Given the description of an element on the screen output the (x, y) to click on. 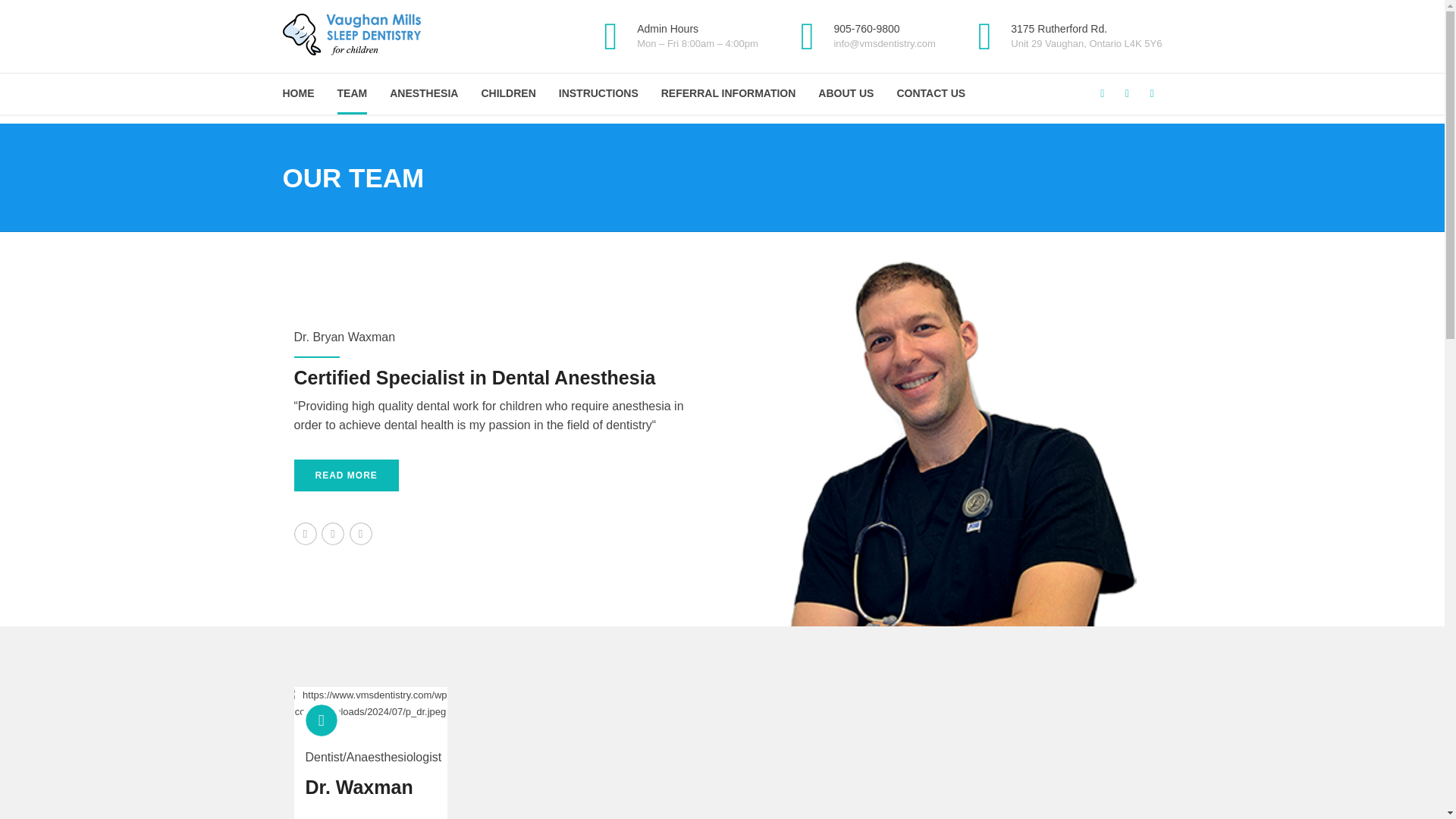
CONTACT US (930, 93)
REFERRAL INFORMATION (728, 93)
INSTRUCTIONS (599, 93)
ANESTHESIA (424, 93)
CHILDREN (507, 93)
READ MORE (346, 475)
ABOUT US (845, 93)
